Given the description of an element on the screen output the (x, y) to click on. 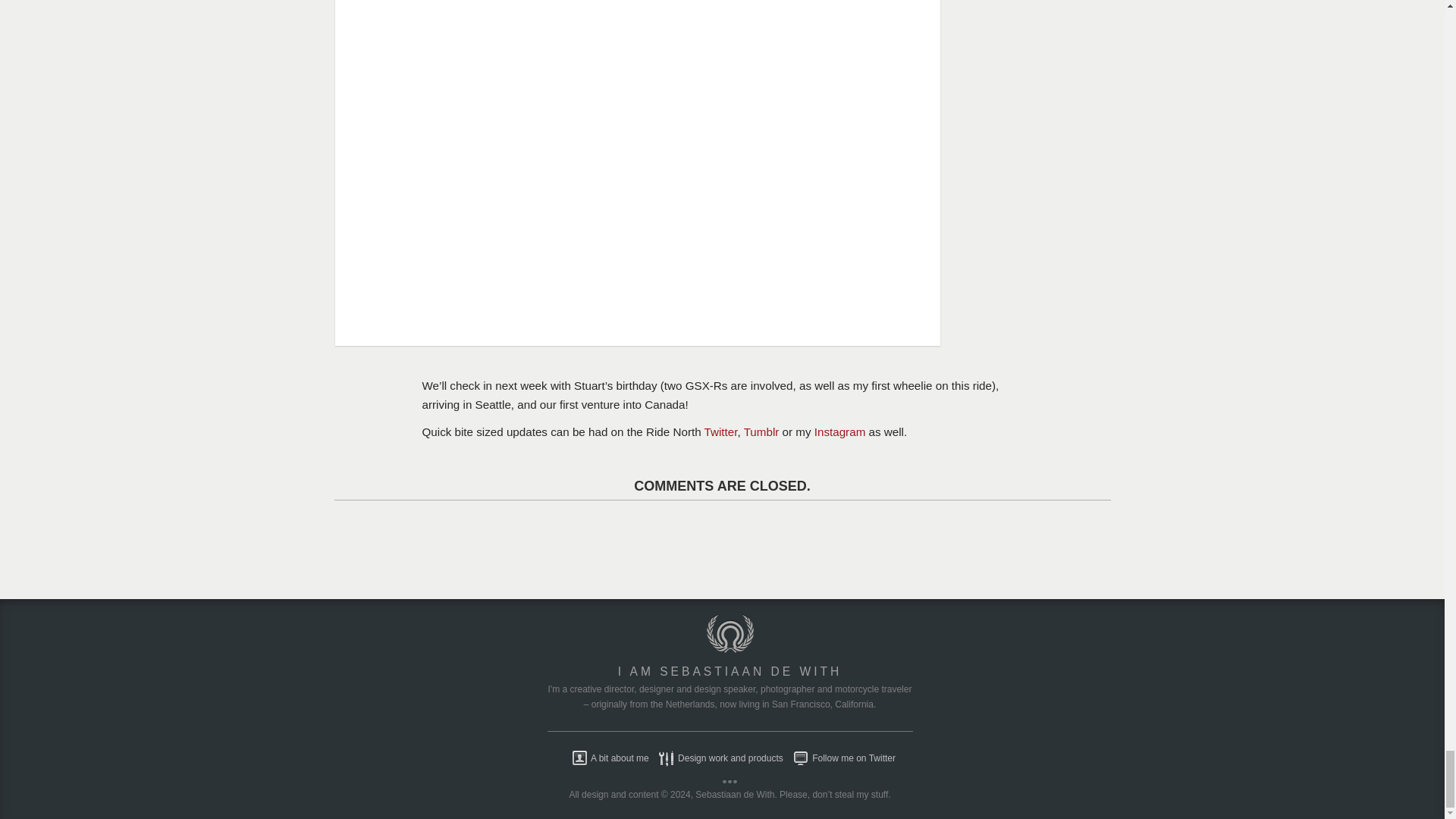
Cocoia (730, 649)
Twitter (721, 431)
Tumblr (761, 431)
Design work and products (716, 758)
Instagram (839, 431)
A bit about me (606, 758)
Follow me on Twitter (840, 758)
